Given the description of an element on the screen output the (x, y) to click on. 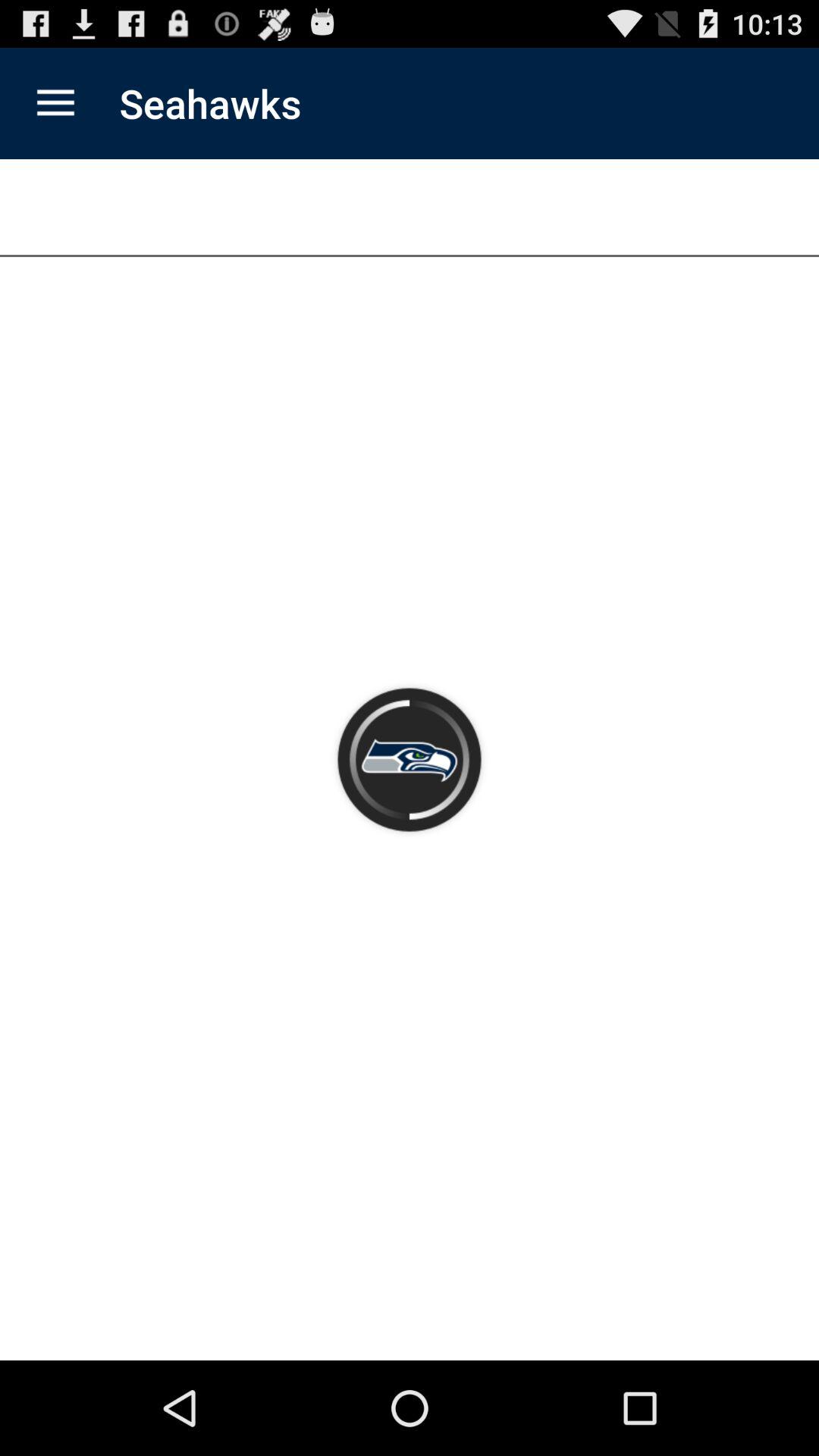
press the icon to the left of the seahawks (55, 103)
